Given the description of an element on the screen output the (x, y) to click on. 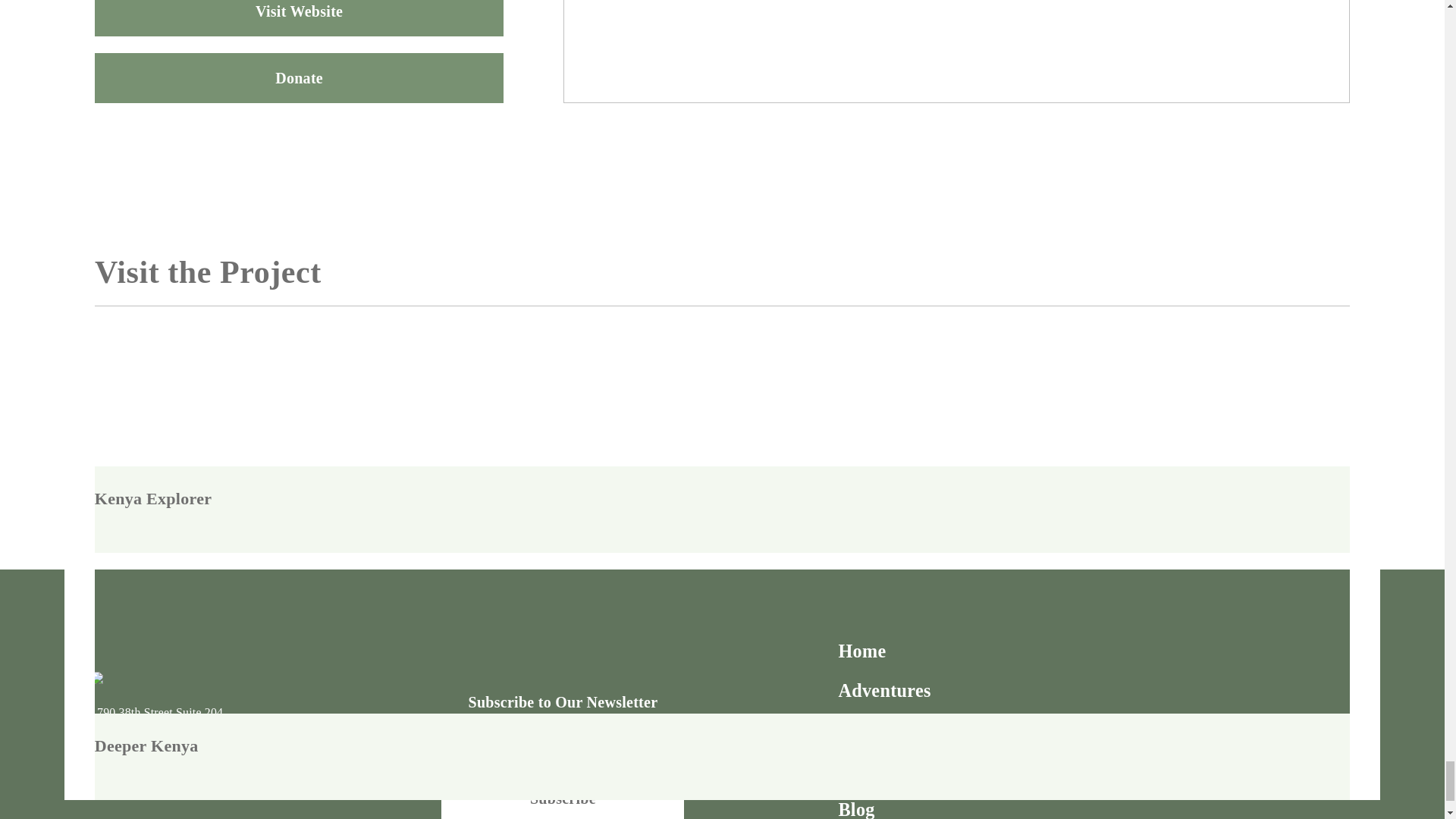
Subscribe (562, 796)
